Given the description of an element on the screen output the (x, y) to click on. 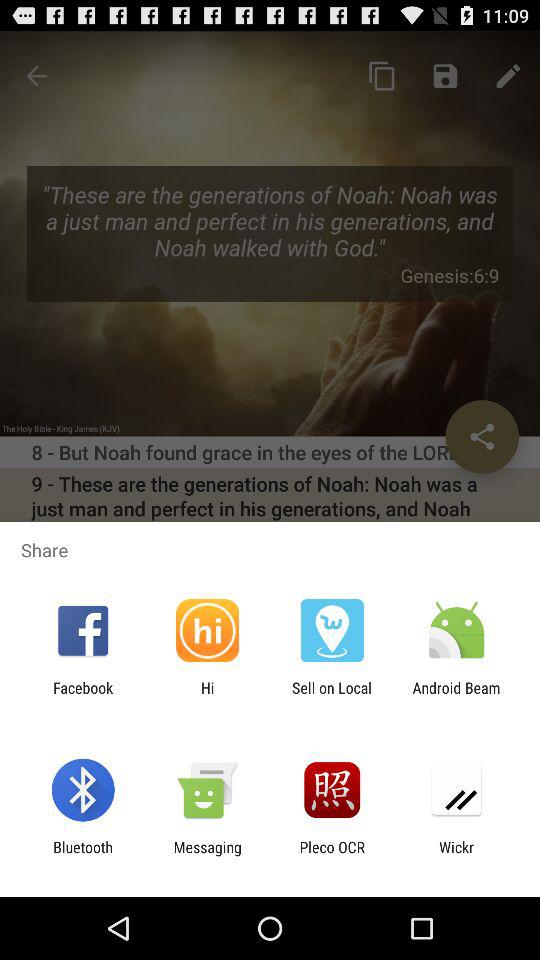
open messaging icon (207, 856)
